Given the description of an element on the screen output the (x, y) to click on. 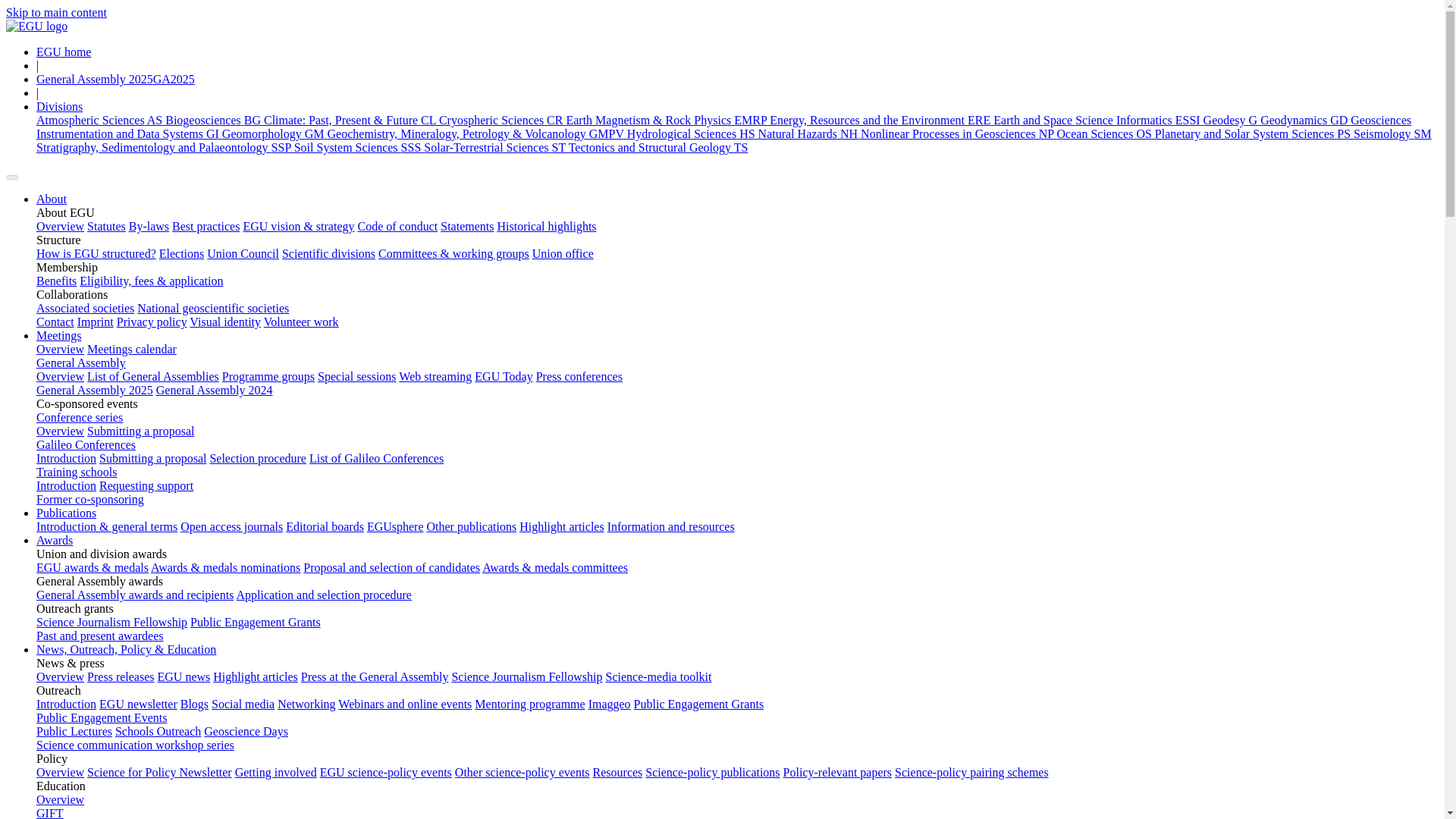
Solar-Terrestrial Sciences ST (495, 146)
Statutes (106, 226)
Historical highlights (545, 226)
Earth and Space Science Informatics ESSI (1097, 119)
Energy, Resources and the Environment (881, 119)
Hydrological Sciences HS (692, 133)
Cryospheric Sciences (502, 119)
Geosciences Instrumentation and Data Systems (723, 126)
Geosciences Instrumentation and Data Systems GI (723, 126)
Elections (181, 253)
Atmospheric Sciences (100, 119)
Ocean Sciences OS (1105, 133)
Earth and Space Science Informatics (1097, 119)
Home (35, 25)
Natural Hazards (809, 133)
